Given the description of an element on the screen output the (x, y) to click on. 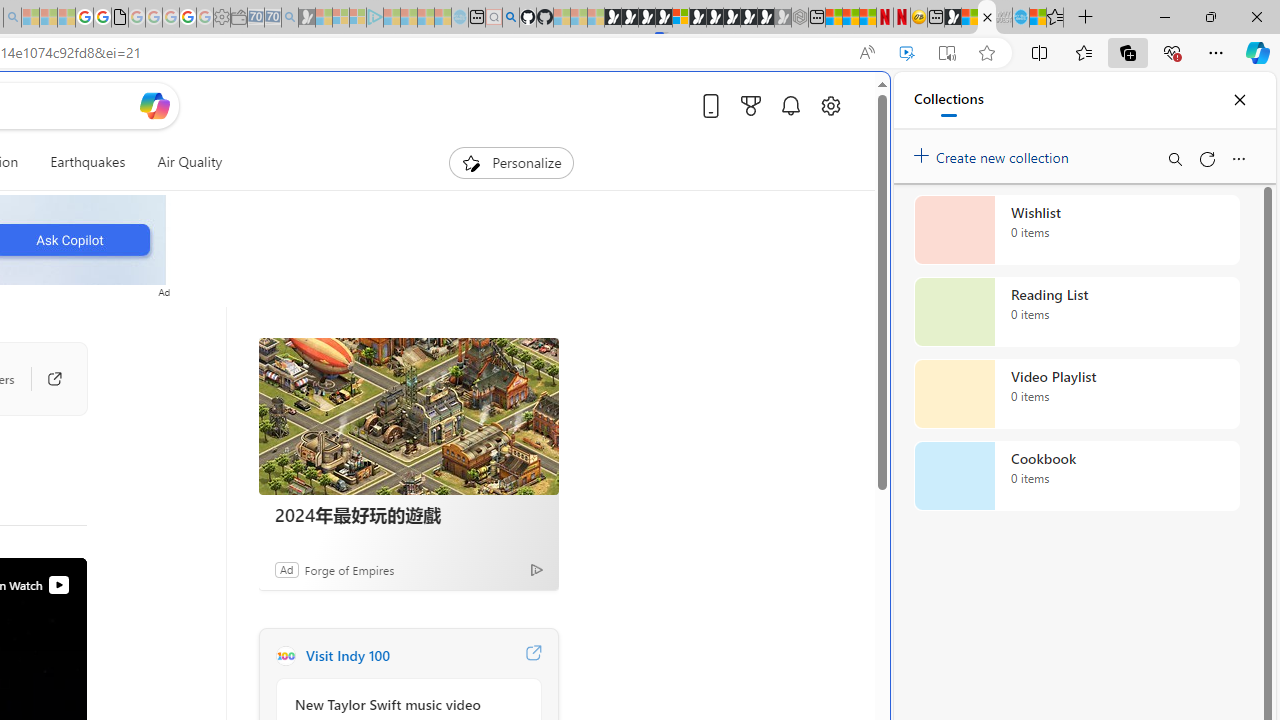
View on Watch (58, 585)
MSN (952, 17)
Air Quality (181, 162)
Frequently visited (418, 265)
Reading List collection, 0 items (1076, 312)
Play Cave FRVR in your browser | Games from Microsoft Start (343, 426)
Search or enter web address (343, 191)
